Given the description of an element on the screen output the (x, y) to click on. 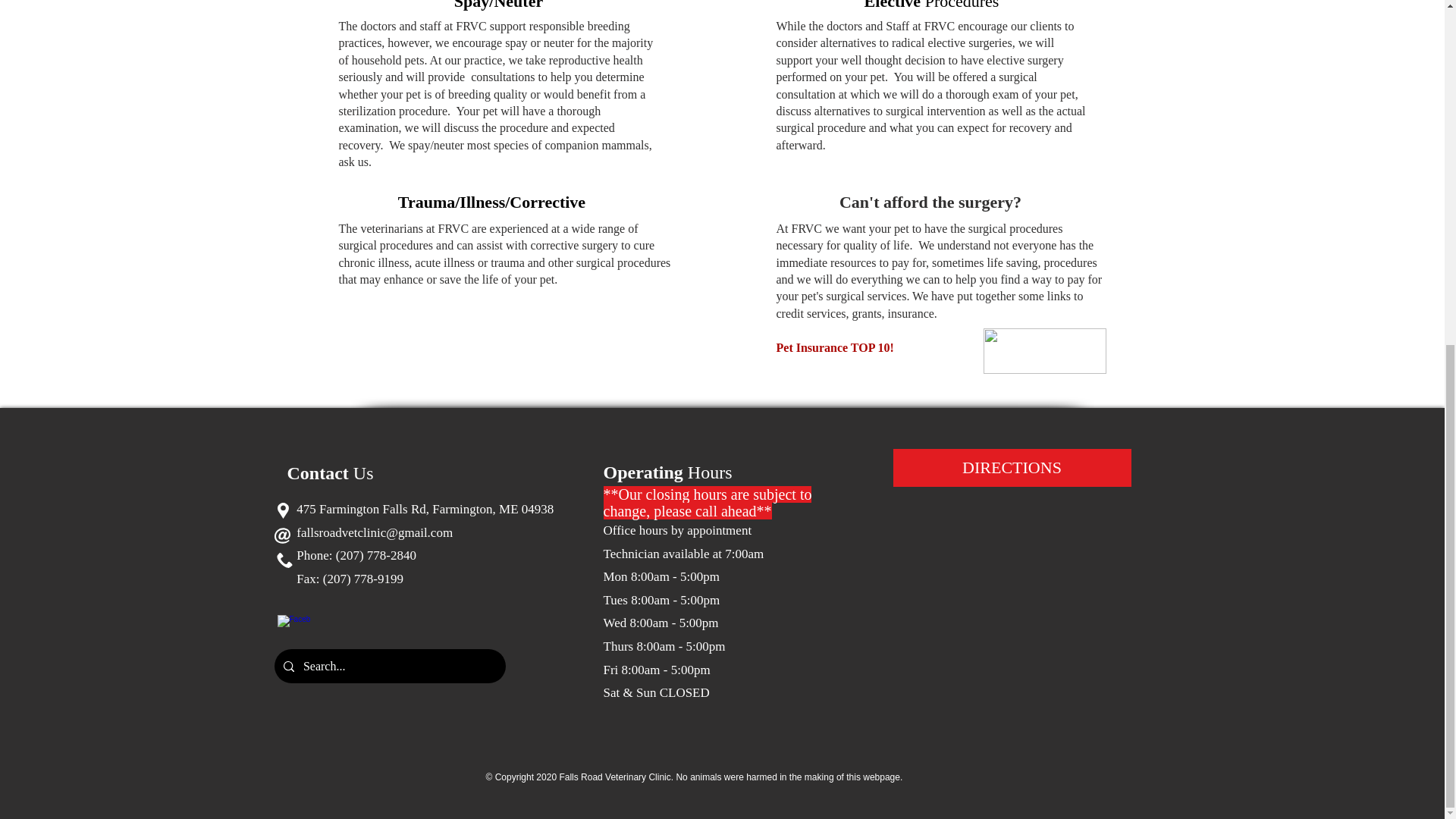
DIRECTIONS (1012, 467)
Pet Insurance TOP 10! (834, 347)
